Given the description of an element on the screen output the (x, y) to click on. 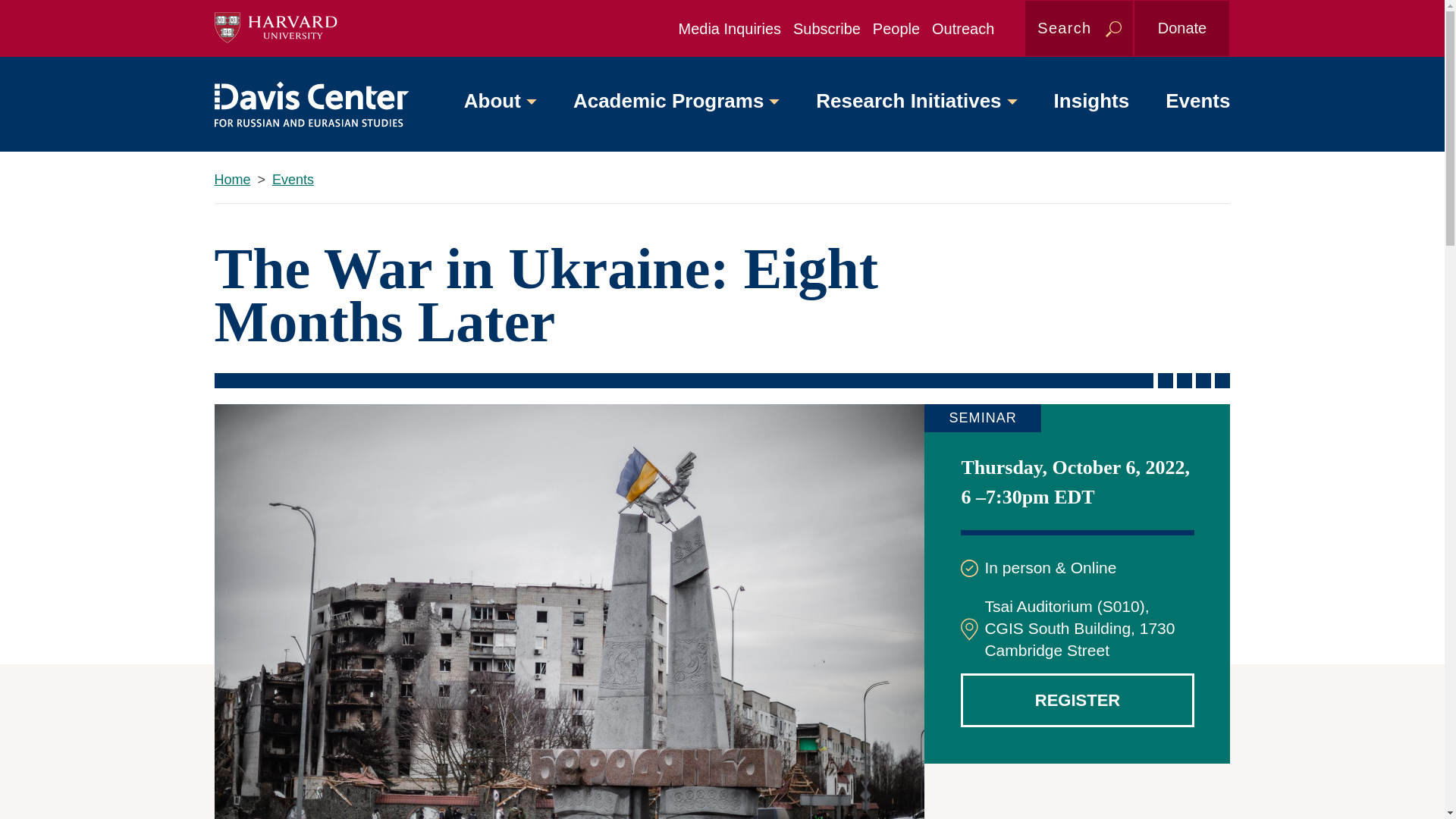
Apply (1113, 29)
